Given the description of an element on the screen output the (x, y) to click on. 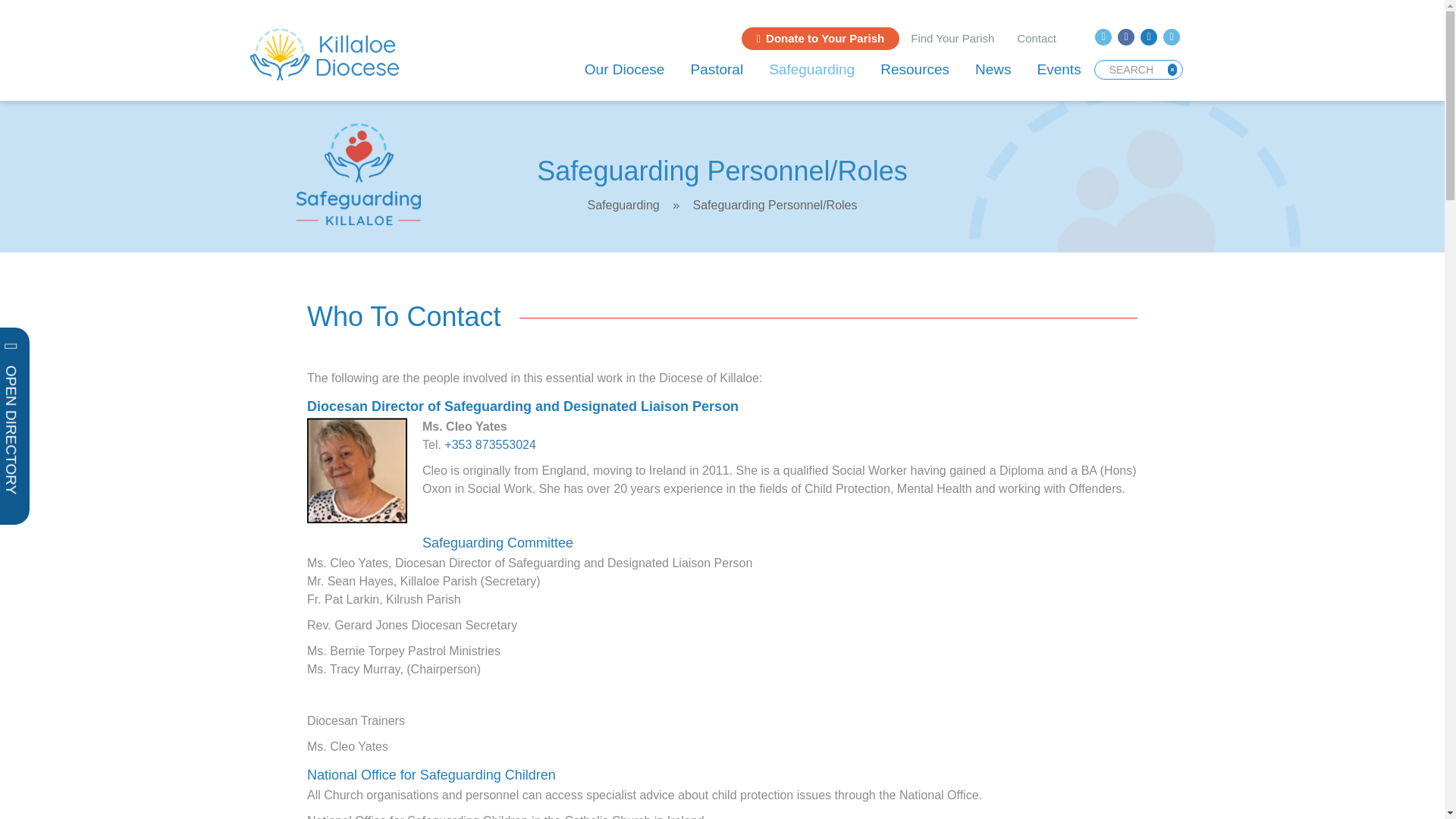
Our Diocese (625, 69)
Find Your Parish (952, 38)
Donate to Your Parish (820, 38)
Contact (1036, 38)
Pastoral (716, 69)
Safeguarding (811, 69)
